Given the description of an element on the screen output the (x, y) to click on. 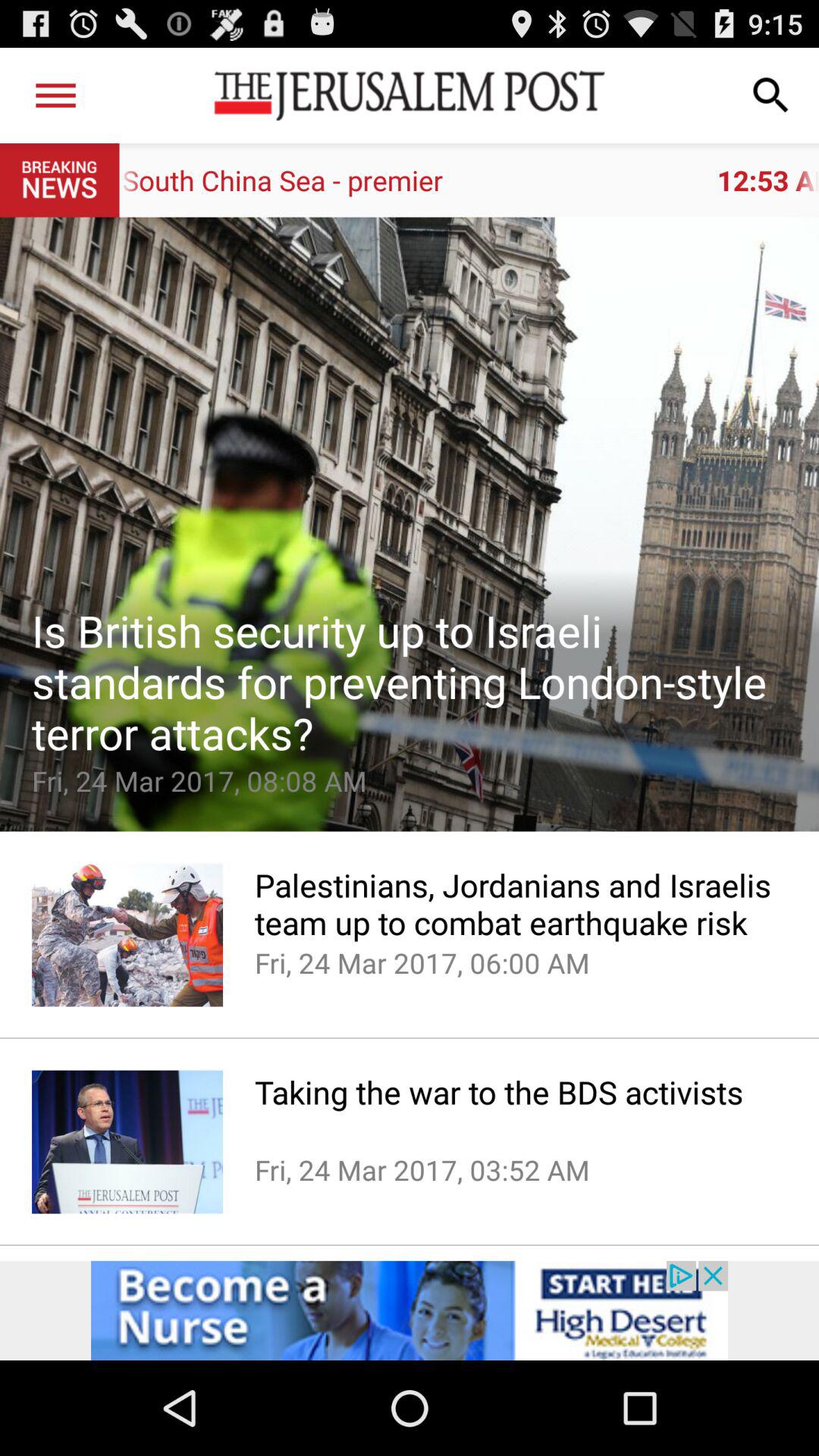
it gives more link menu and sub menus (55, 95)
